Given the description of an element on the screen output the (x, y) to click on. 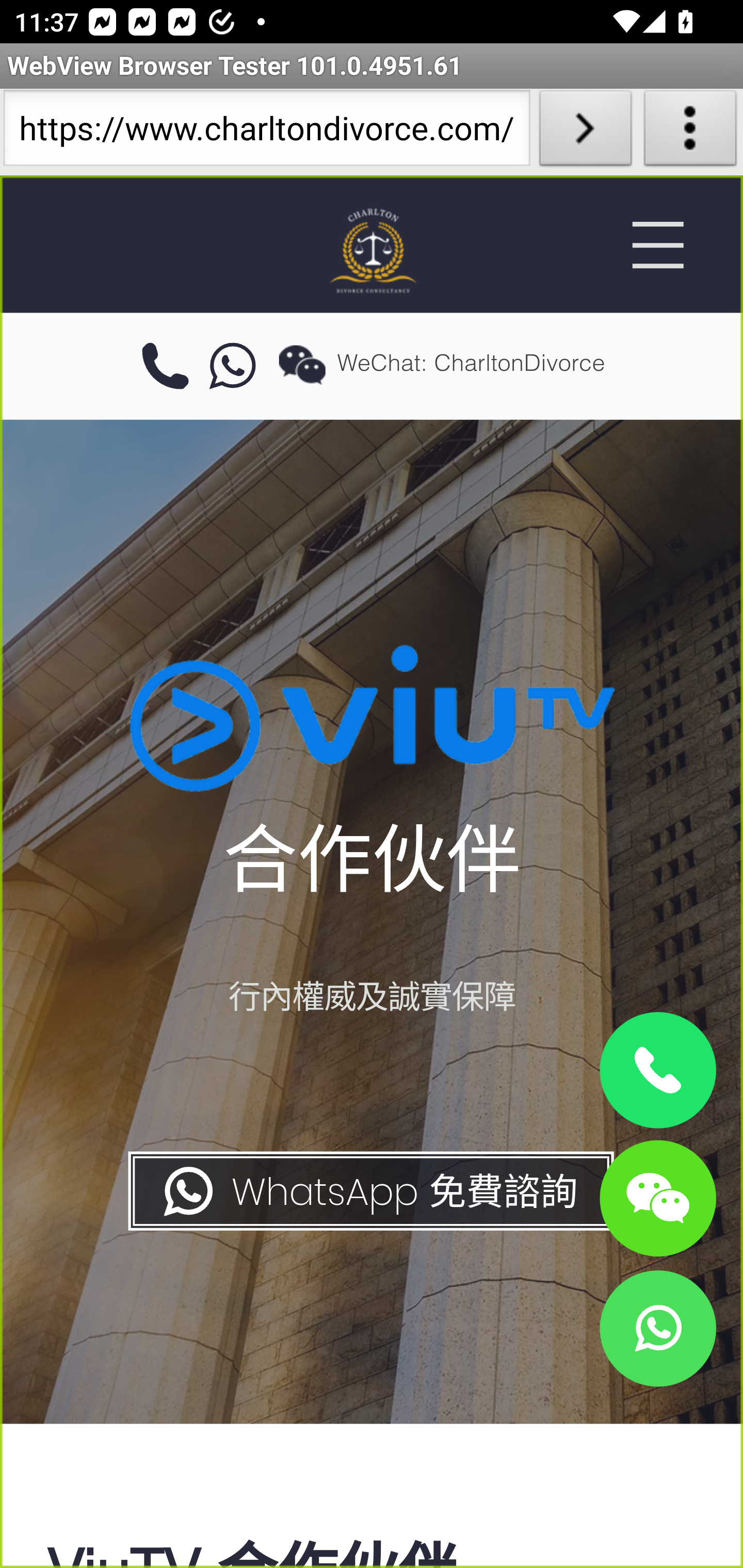
Load URL (585, 132)
About WebView (690, 132)
Open navigation menu (657, 245)
500x500 沒背景.png (371, 249)
tel:+852 9692 7577 (164, 366)
o7rumn (232, 366)
wechat2_edited_edited.png (301, 364)
Phone (657, 1070)
WeChat: CharltonDivorce (657, 1196)
WhatsApp 免費諮詢 (369, 1191)
WhatsApp (657, 1327)
